Given the description of an element on the screen output the (x, y) to click on. 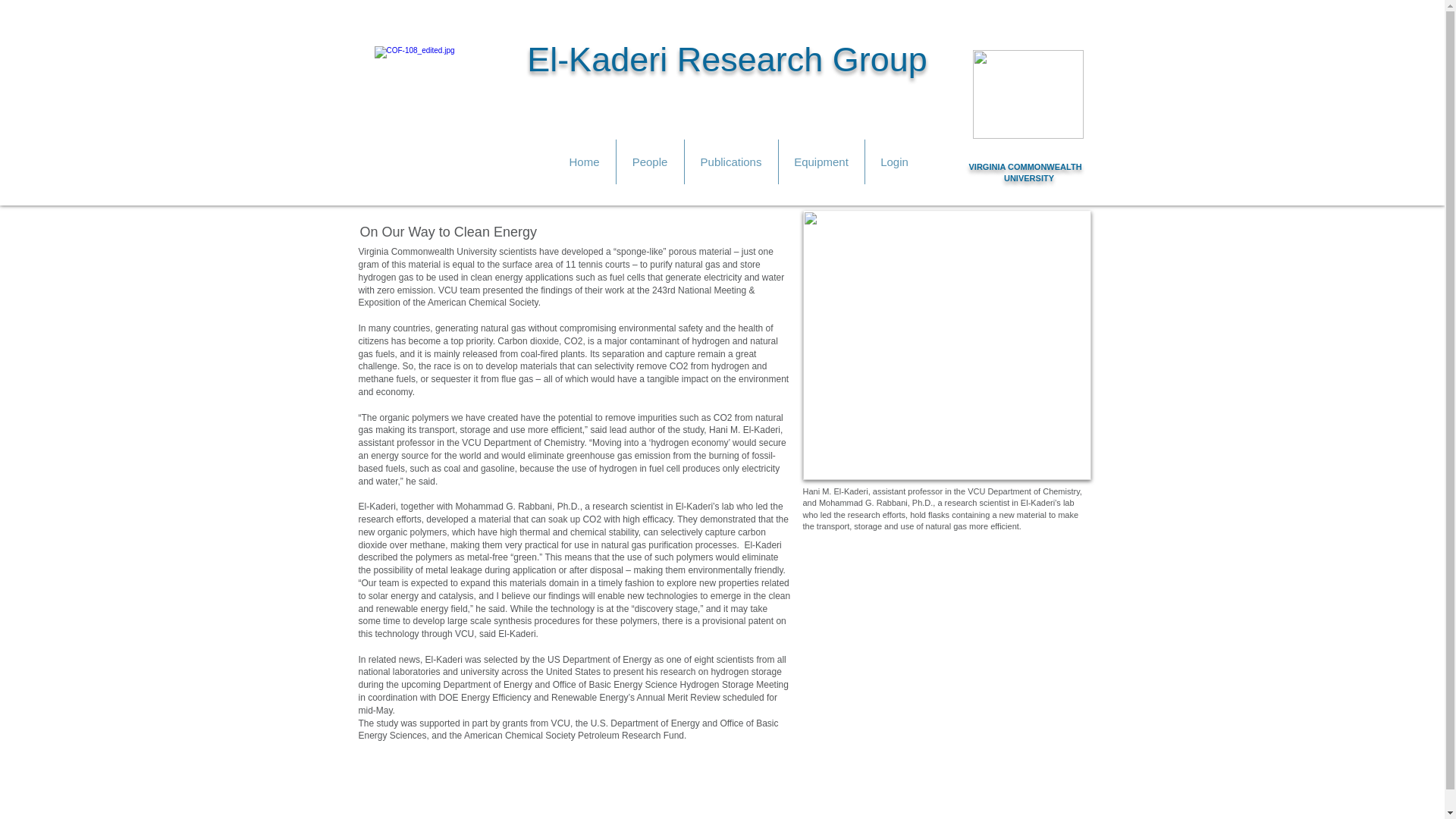
UNIVERSITY (1029, 177)
VIRGINIA COMMONWEALTH (1025, 166)
Publications (730, 161)
People (648, 161)
Equipment (820, 161)
El-Kaderi Research Group (727, 59)
Login (893, 161)
Home (584, 161)
